Given the description of an element on the screen output the (x, y) to click on. 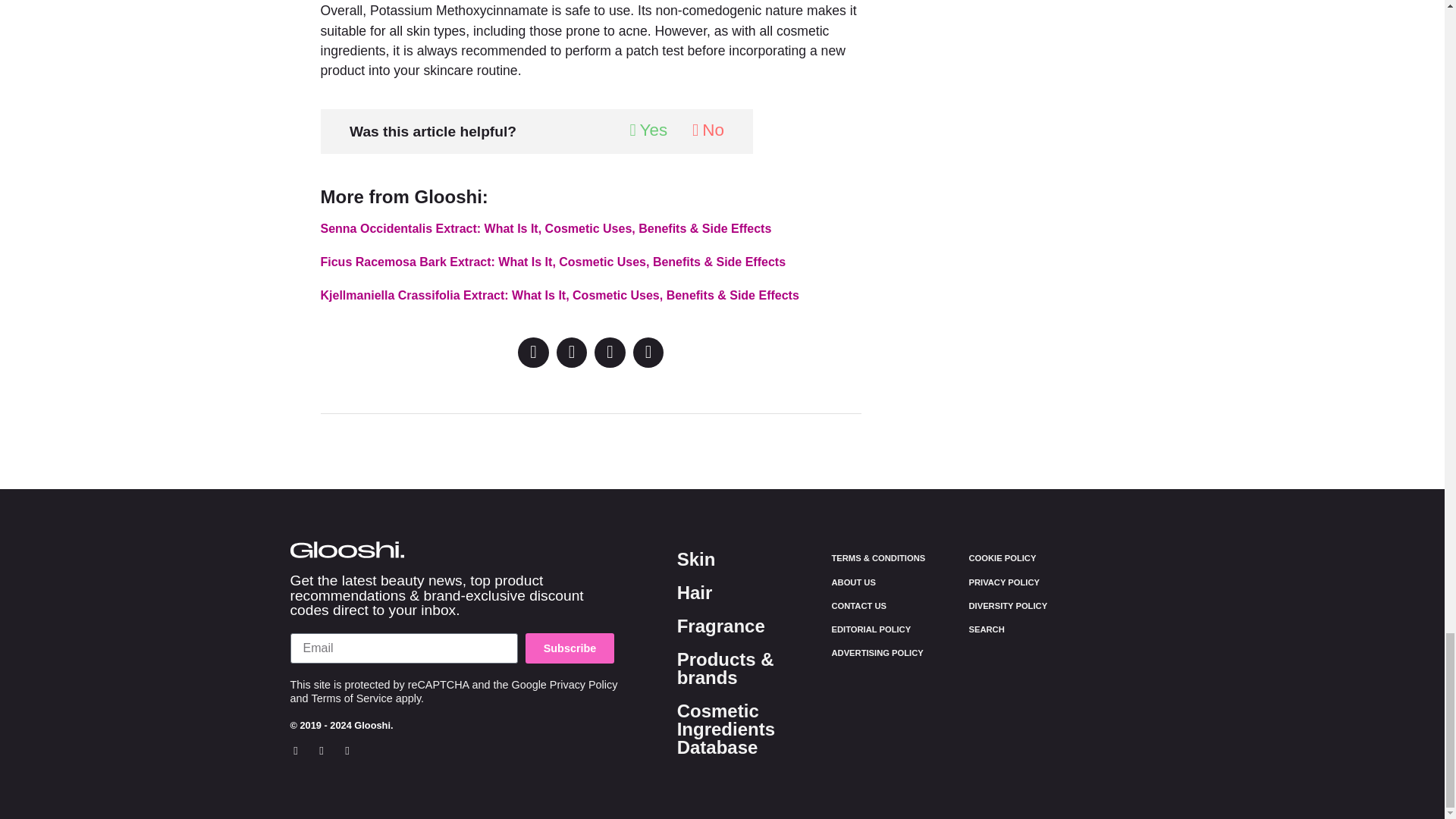
No (708, 130)
Privacy Policy (583, 684)
Fragrance (721, 625)
Cosmetic Ingredients Database (725, 729)
Yes (647, 130)
Skin (696, 558)
Subscribe (569, 648)
Terms of Service (352, 698)
Hair (695, 592)
